Given the description of an element on the screen output the (x, y) to click on. 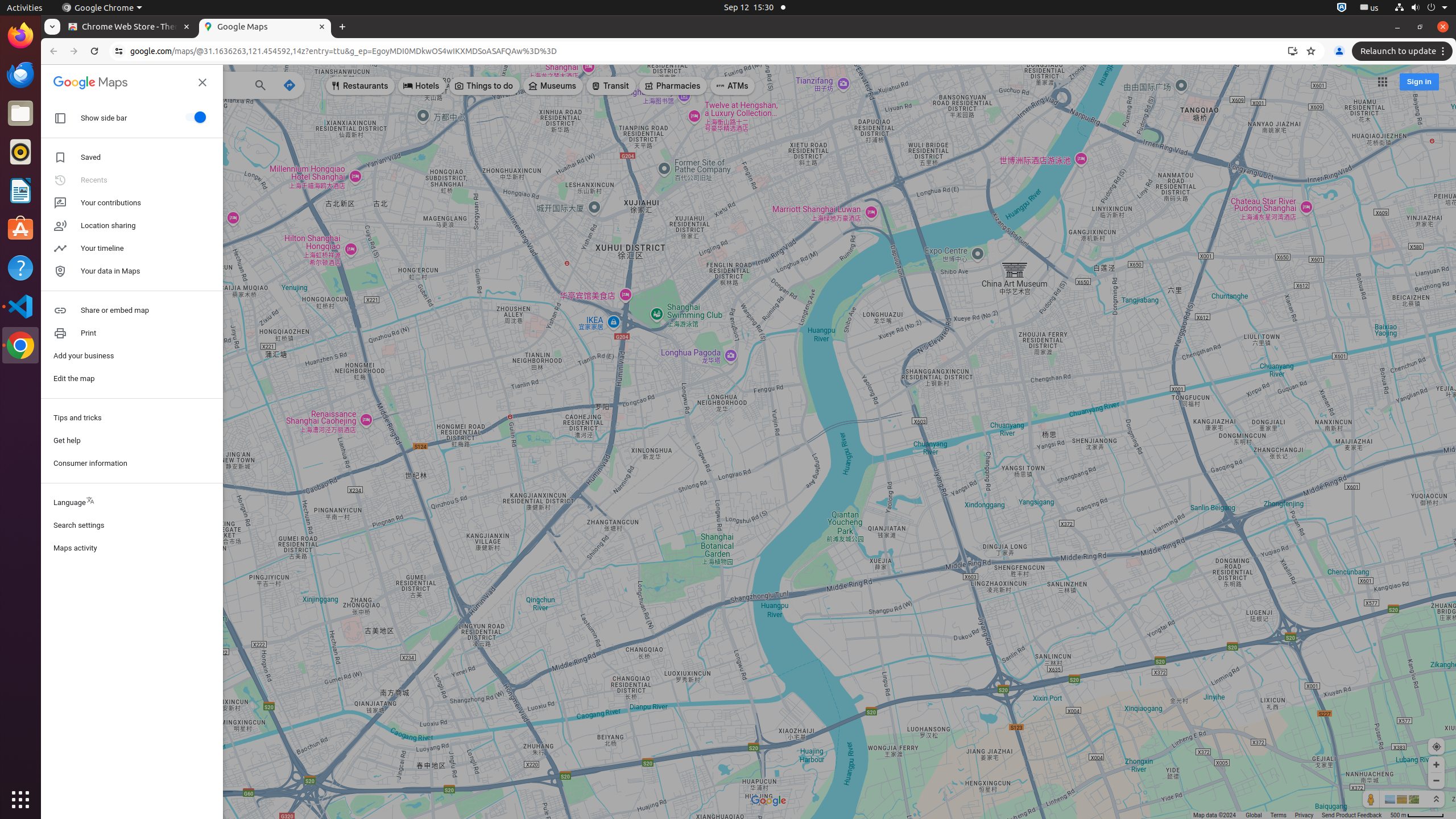
Print Element type: menu-item (131, 333)
Recents Element type: menu-item (131, 180)
Search Element type: push-button (260, 86)
Install Google Maps Element type: push-button (1292, 51)
Transit Element type: push-button (610, 85)
